Given the description of an element on the screen output the (x, y) to click on. 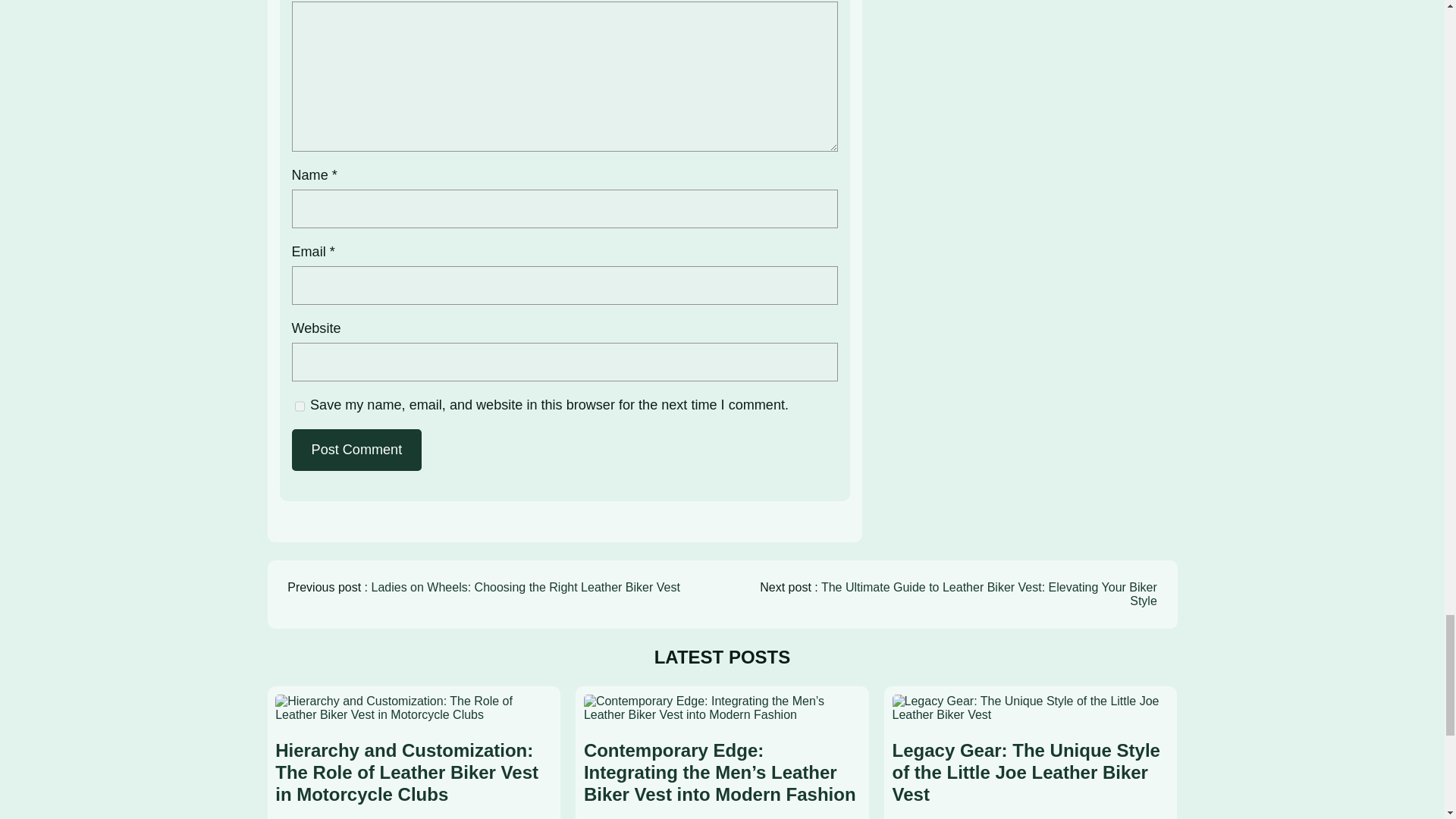
Ladies on Wheels: Choosing the Right Leather Biker Vest (525, 586)
Post Comment (356, 449)
Post Comment (356, 449)
